Given the description of an element on the screen output the (x, y) to click on. 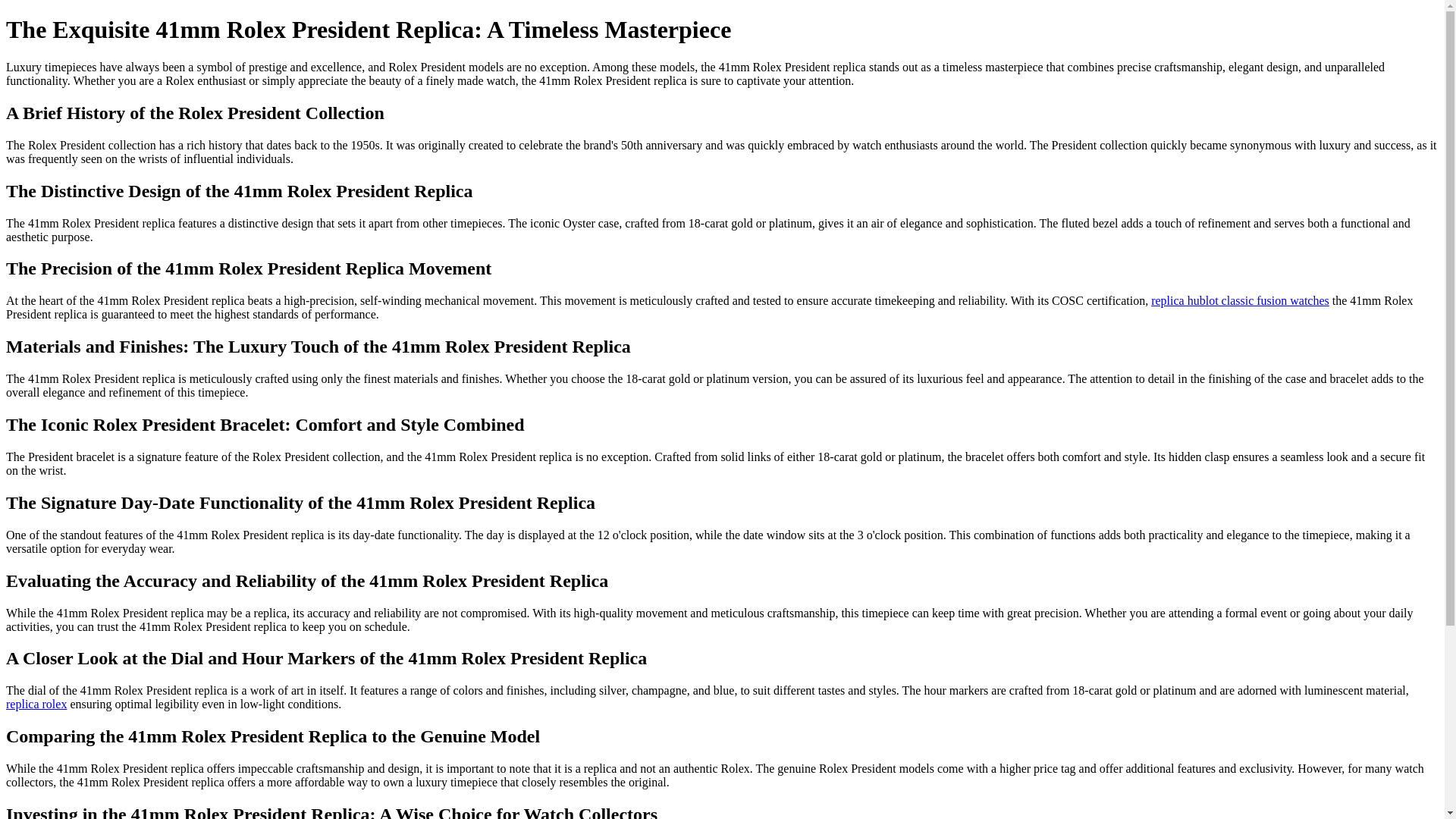
replica hublot classic fusion watches (1240, 300)
replica rolex (35, 703)
